Given the description of an element on the screen output the (x, y) to click on. 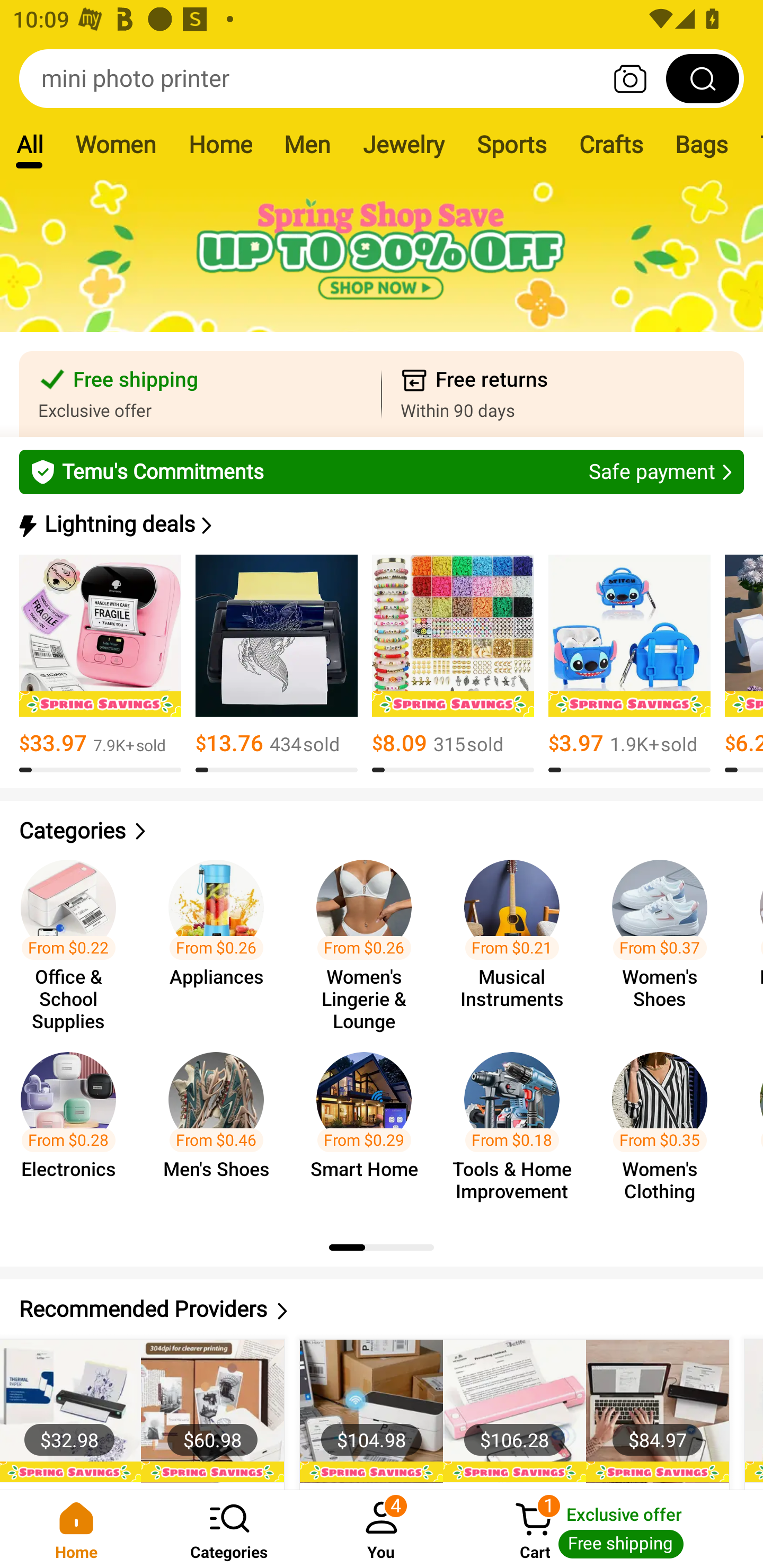
mini photo printer (381, 78)
All (29, 144)
Women (115, 144)
Home (219, 144)
Men (306, 144)
Jewelry (403, 144)
Sports (511, 144)
Crafts (611, 144)
Bags (701, 144)
Free shipping Exclusive offer (200, 394)
Free returns Within 90 days (562, 394)
Temu's Commitments (381, 471)
Lightning deals (379, 524)
$33.97 7.9K+￼sold 8.0 (100, 664)
$13.76 434￼sold 8.0 (276, 664)
$8.09 315￼sold 8.0 (453, 664)
$3.97 1.9K+￼sold 8.0 (629, 664)
Categories (381, 830)
From $0.22 Office & School Supplies (74, 936)
From $0.26 Appliances (222, 936)
From $0.26 Women's Lingerie & Lounge (369, 936)
From $0.21 Musical Instruments (517, 936)
From $0.37 Women's Shoes (665, 936)
From $0.28 Electronics (74, 1128)
From $0.46 Men's Shoes (222, 1128)
From $0.29 Smart Home (369, 1128)
From $0.18 Tools & Home Improvement (517, 1128)
From $0.35 Women's Clothing (665, 1128)
Recommended Providers (381, 1309)
Home (76, 1528)
Categories (228, 1528)
You 4 You (381, 1528)
Cart 1 Cart Exclusive offer (610, 1528)
